Given the description of an element on the screen output the (x, y) to click on. 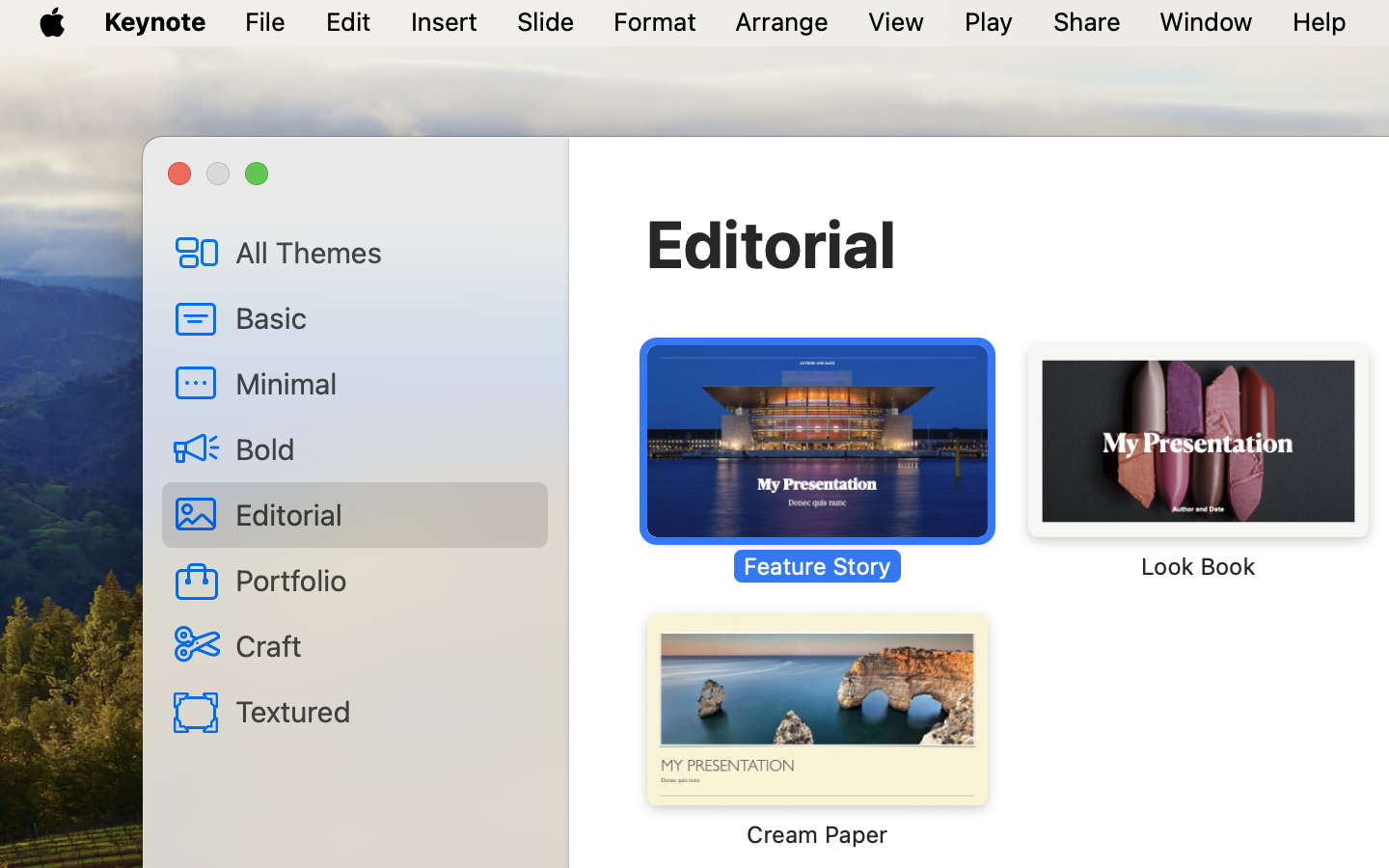
Bold Element type: AXStaticText (383, 448)
‎⁨Cream Paper⁩ Element type: AXButton (816, 731)
Portfolio Element type: AXStaticText (383, 579)
Craft Element type: AXStaticText (383, 644)
Textured Element type: AXStaticText (383, 710)
